Given the description of an element on the screen output the (x, y) to click on. 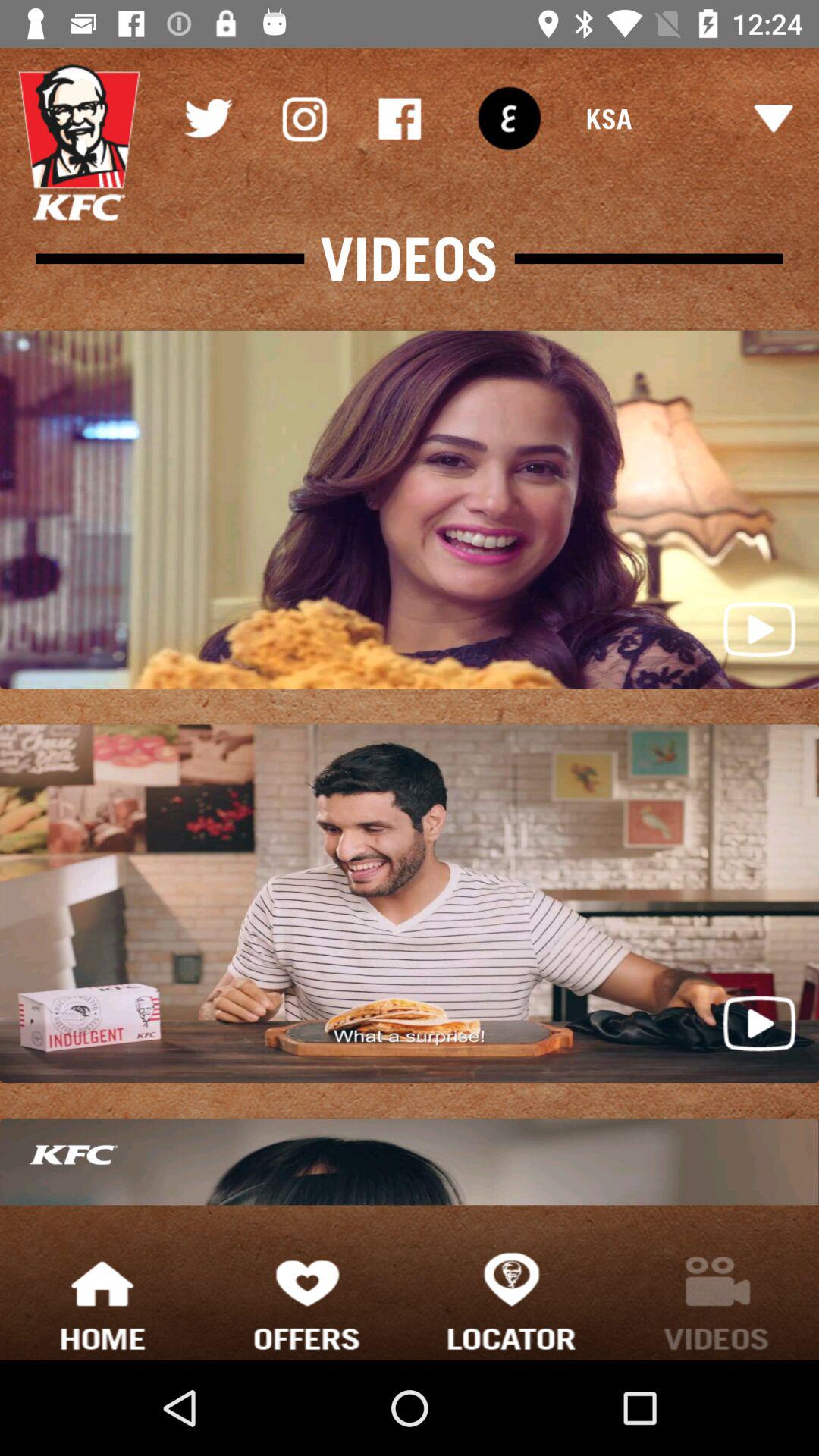
choose icon above videos (303, 118)
